Given the description of an element on the screen output the (x, y) to click on. 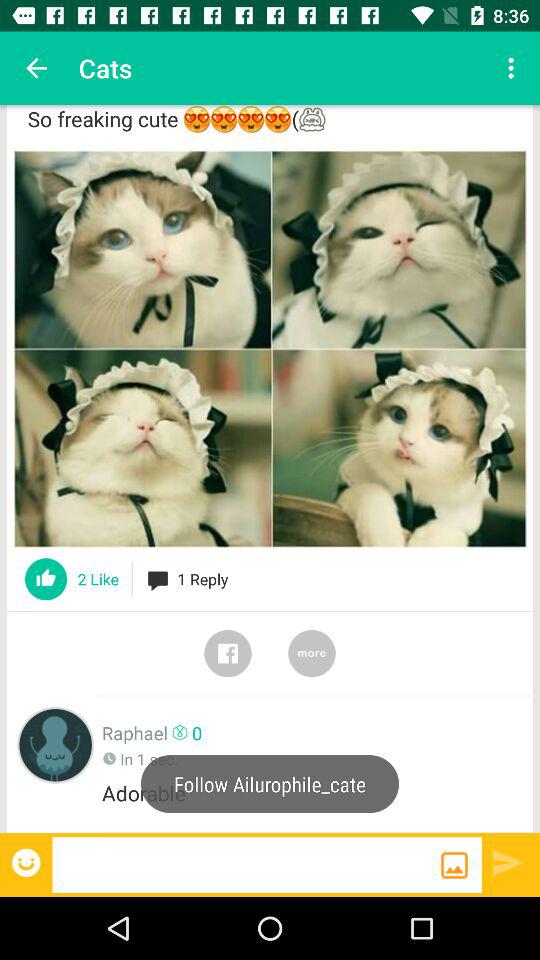
more switch (312, 653)
